Given the description of an element on the screen output the (x, y) to click on. 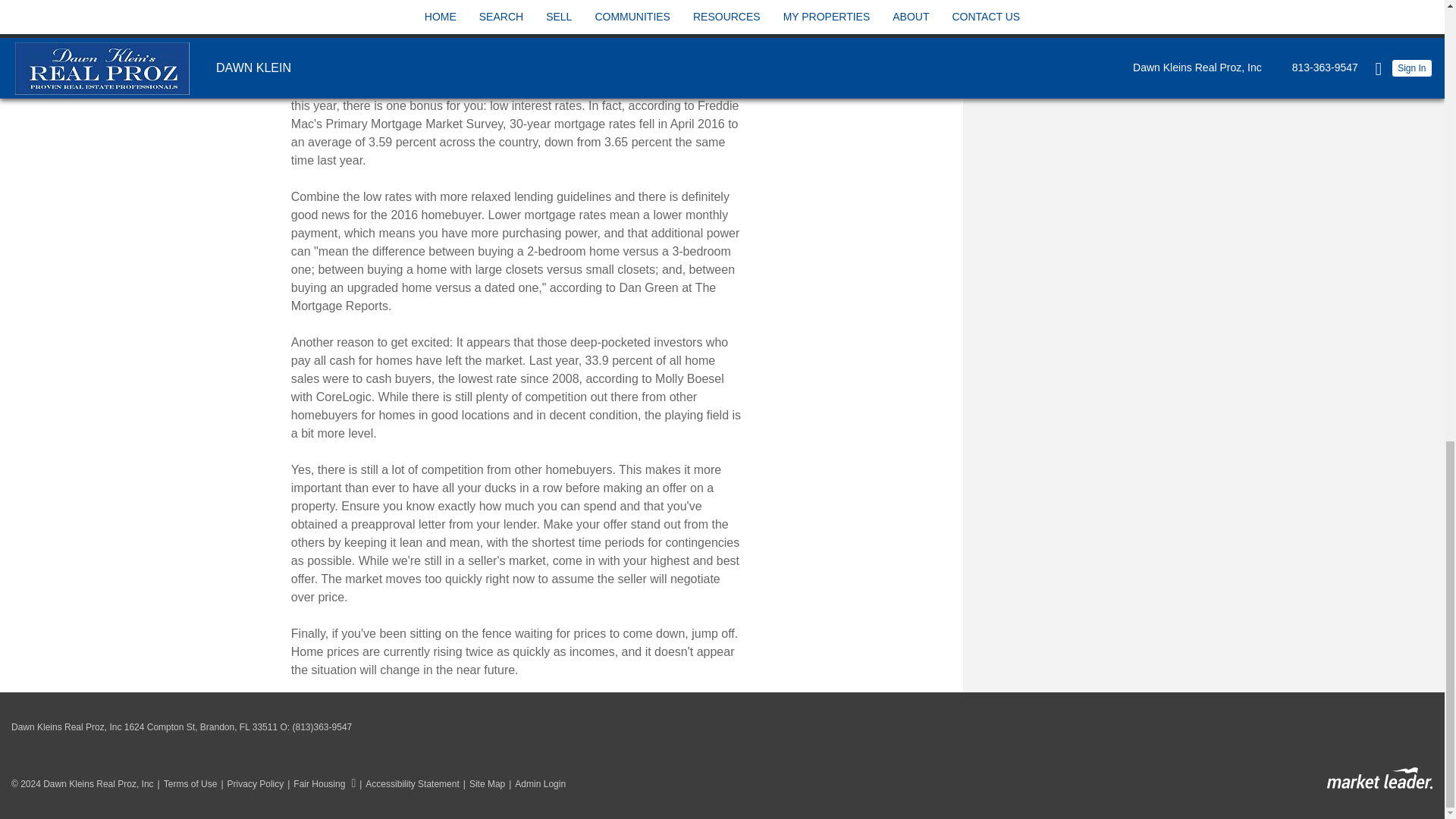
Fair Housing (319, 784)
Terms of Use (185, 784)
Privacy Policy (249, 784)
Powered By Market Leader (1379, 778)
Admin Login (535, 784)
Accessibility Statement (407, 784)
Site Map (482, 784)
